Given the description of an element on the screen output the (x, y) to click on. 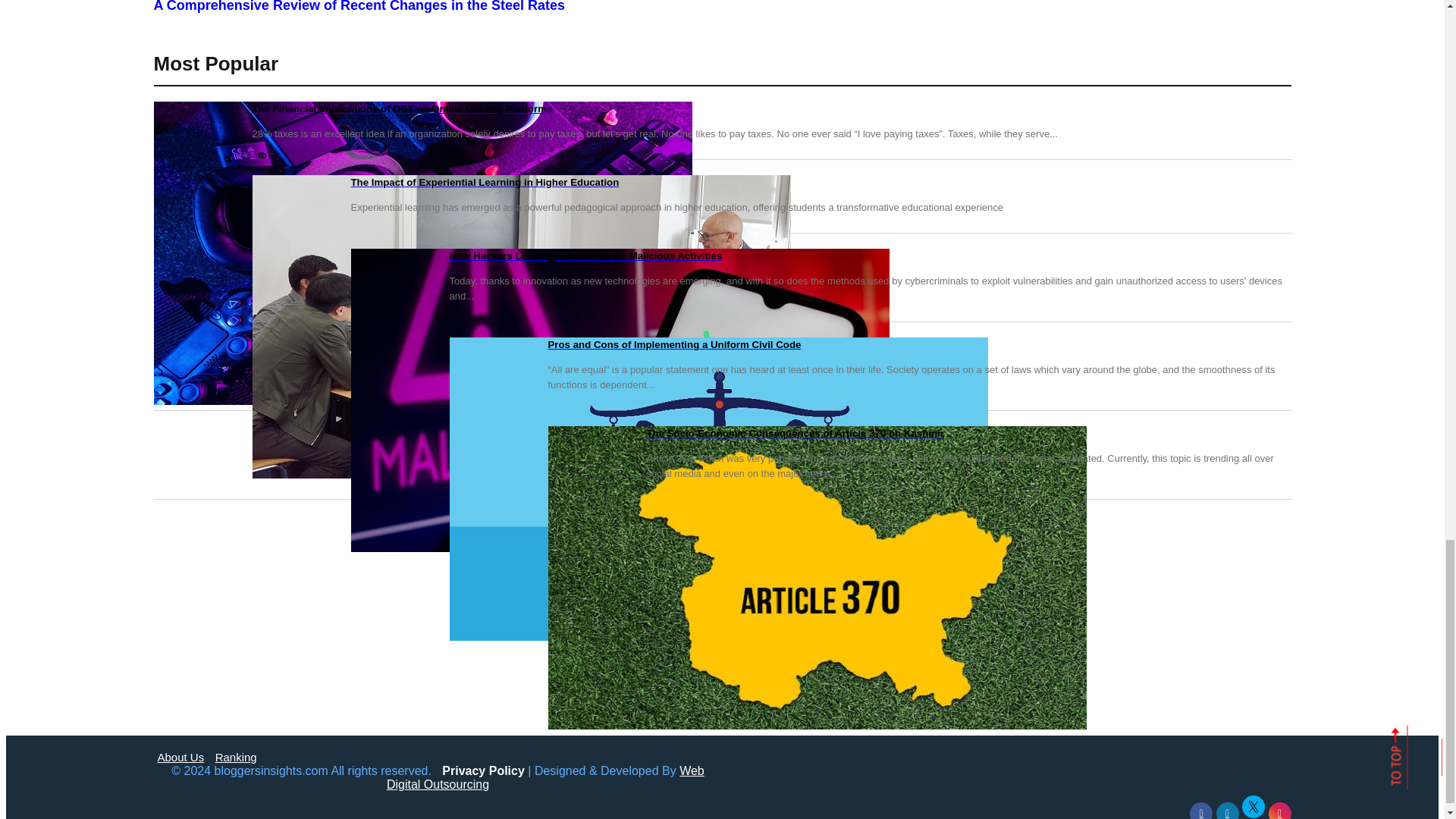
The Financial Implications of GST on Online Gaming Platforms (721, 109)
Pros and Cons of Implementing a Uniform Civil Code (721, 344)
About Us (181, 757)
The Socio-Economic Consequences of Article 370 on Kashmir (721, 433)
How Hackers Leverage WebAPKs for Malicious Activities (721, 255)
The Impact of Experiential Learning in Higher Education (721, 182)
Ranking (236, 757)
A Comprehensive Review of Recent Changes in the Steel Rates (721, 6)
Web Digital Outsourcing (545, 777)
Privacy Policy (483, 770)
